Given the description of an element on the screen output the (x, y) to click on. 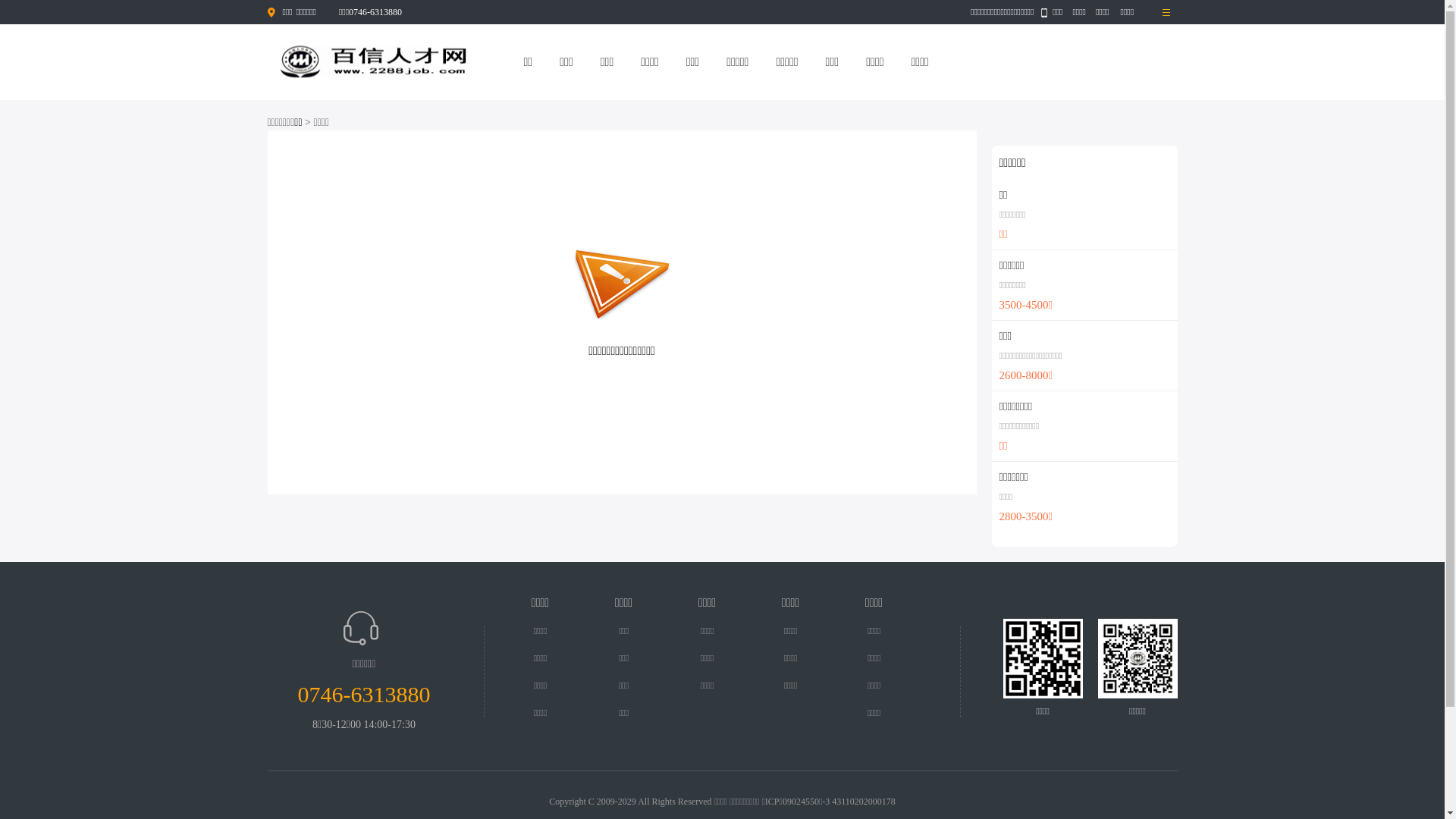
43110202000178 Element type: text (863, 801)
